Given the description of an element on the screen output the (x, y) to click on. 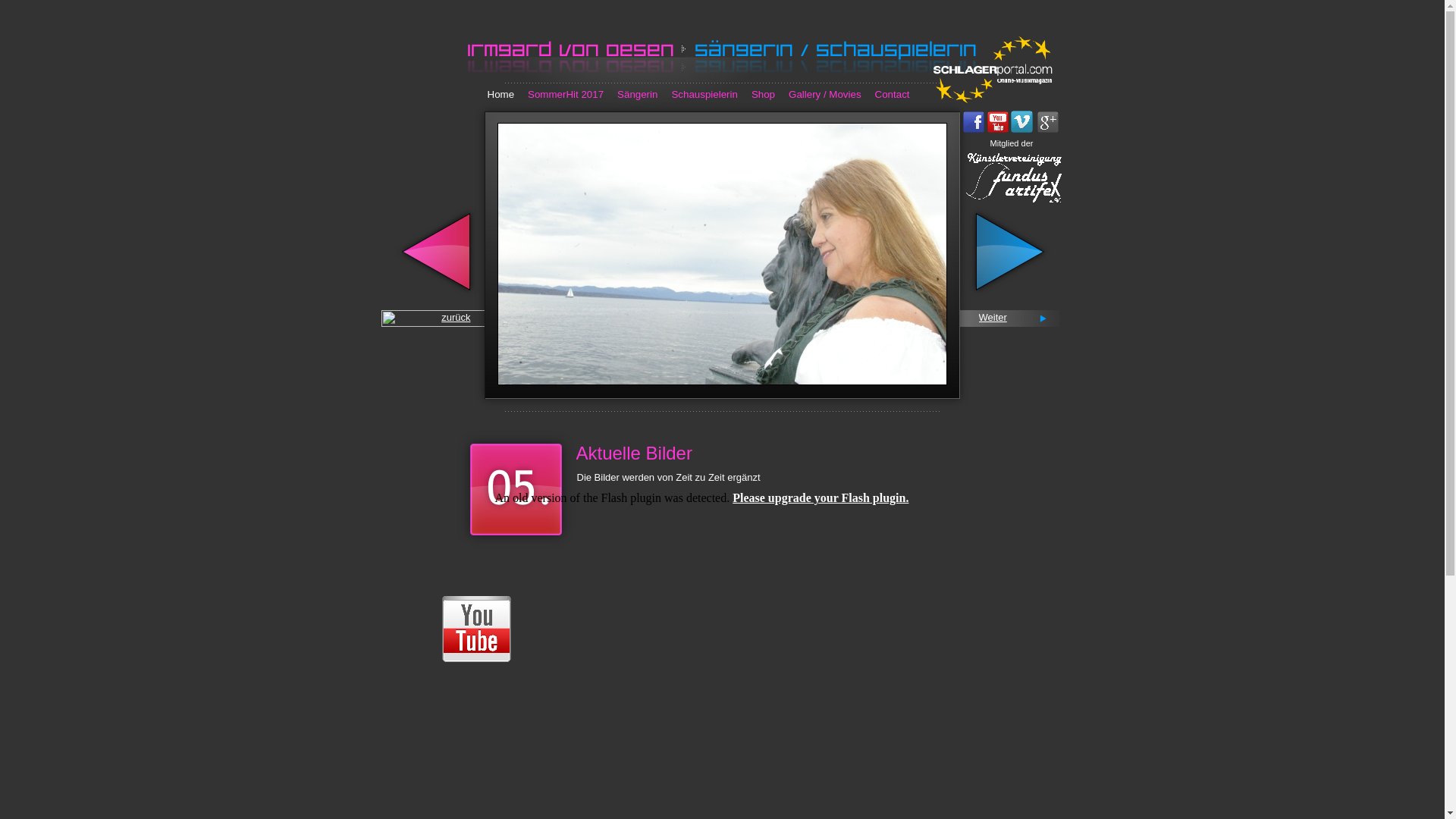
Gallery / Movies Element type: text (824, 94)
Schauspielerin Element type: text (704, 94)
Weiter Element type: text (992, 317)
Shop Element type: text (763, 94)
Home Element type: text (500, 94)
SommerHit 2017 Element type: text (565, 94)
Please upgrade your Flash plugin. Element type: text (820, 497)
Contact Element type: text (892, 94)
